Given the description of an element on the screen output the (x, y) to click on. 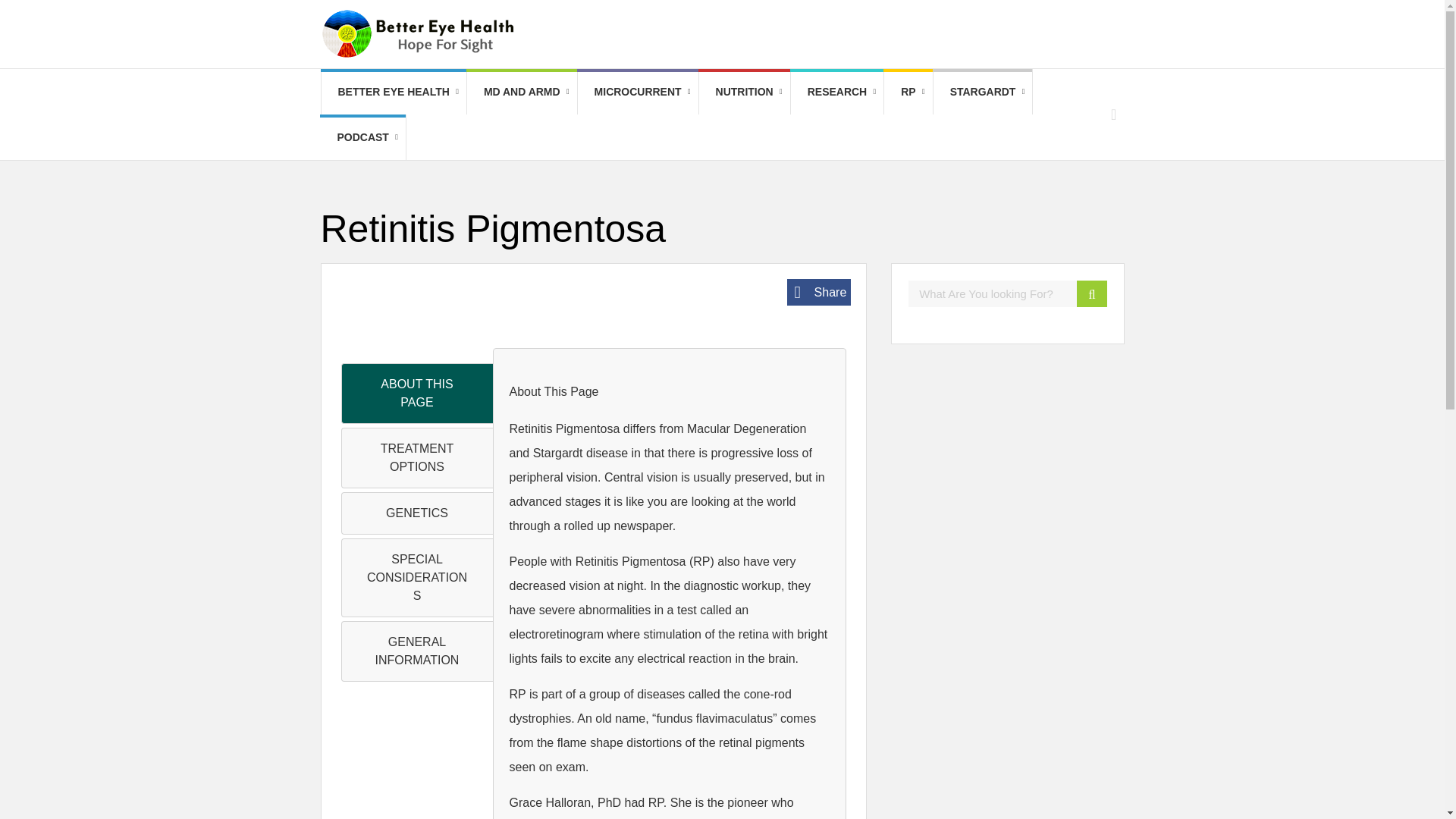
Macular Degeneration and Age Related Macular Degeneration (521, 91)
Retinitis Pigmentosa Cure (907, 91)
Research (836, 91)
Stargardt Disease Cure (982, 91)
MD AND ARMD (521, 91)
Nutrition for the Eyes (744, 91)
Microcurrent Stimulation (638, 91)
BETTER EYE HEALTH (393, 91)
Better Eye Health Program (393, 91)
